Given the description of an element on the screen output the (x, y) to click on. 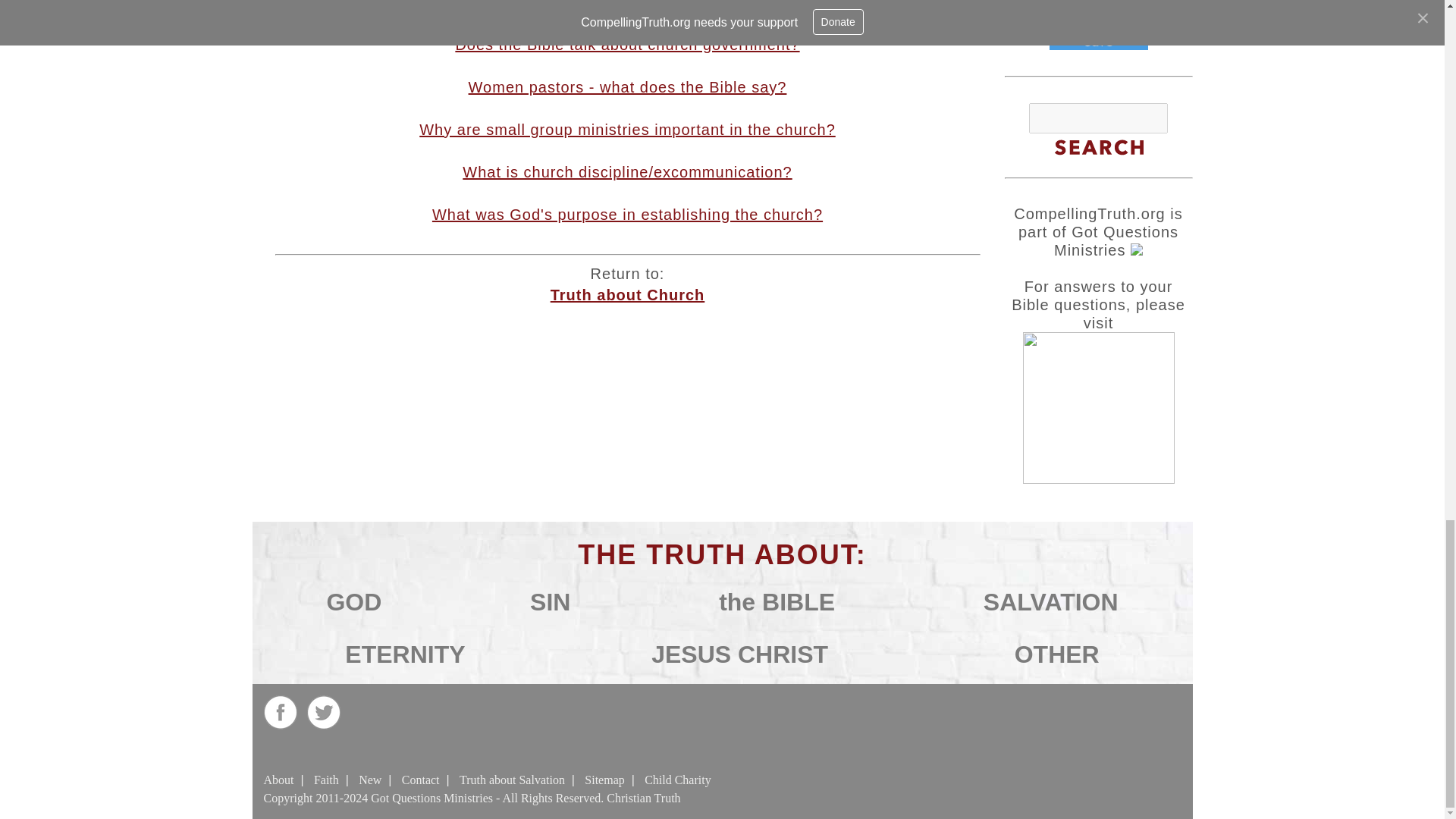
Truth about Church (627, 294)
Save (1098, 40)
SIN (549, 601)
ETERNITY (404, 654)
JESUS CHRIST (739, 654)
What was God's purpose in establishing the church? (627, 214)
Women pastors - what does the Bible say? (627, 86)
Why are small group ministries important in the church? (627, 129)
GOD (353, 601)
the BIBLE (776, 601)
SALVATION (1051, 601)
Does the Bible talk about church government? (626, 44)
